Given the description of an element on the screen output the (x, y) to click on. 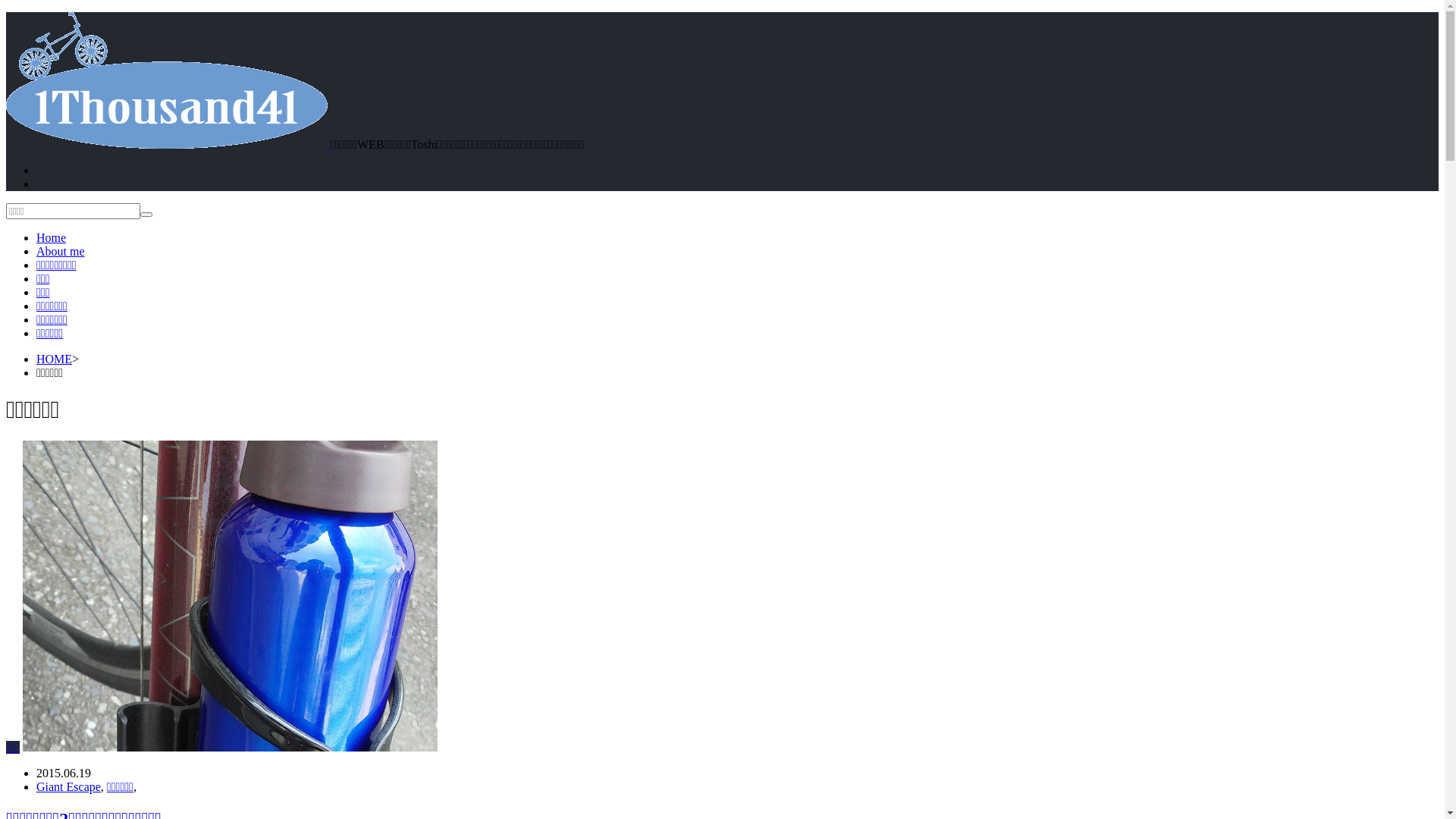
Home Element type: text (50, 237)
Giant Escape Element type: text (68, 786)
HOME Element type: text (54, 358)
search Element type: text (146, 214)
About me Element type: text (60, 250)
